Given the description of an element on the screen output the (x, y) to click on. 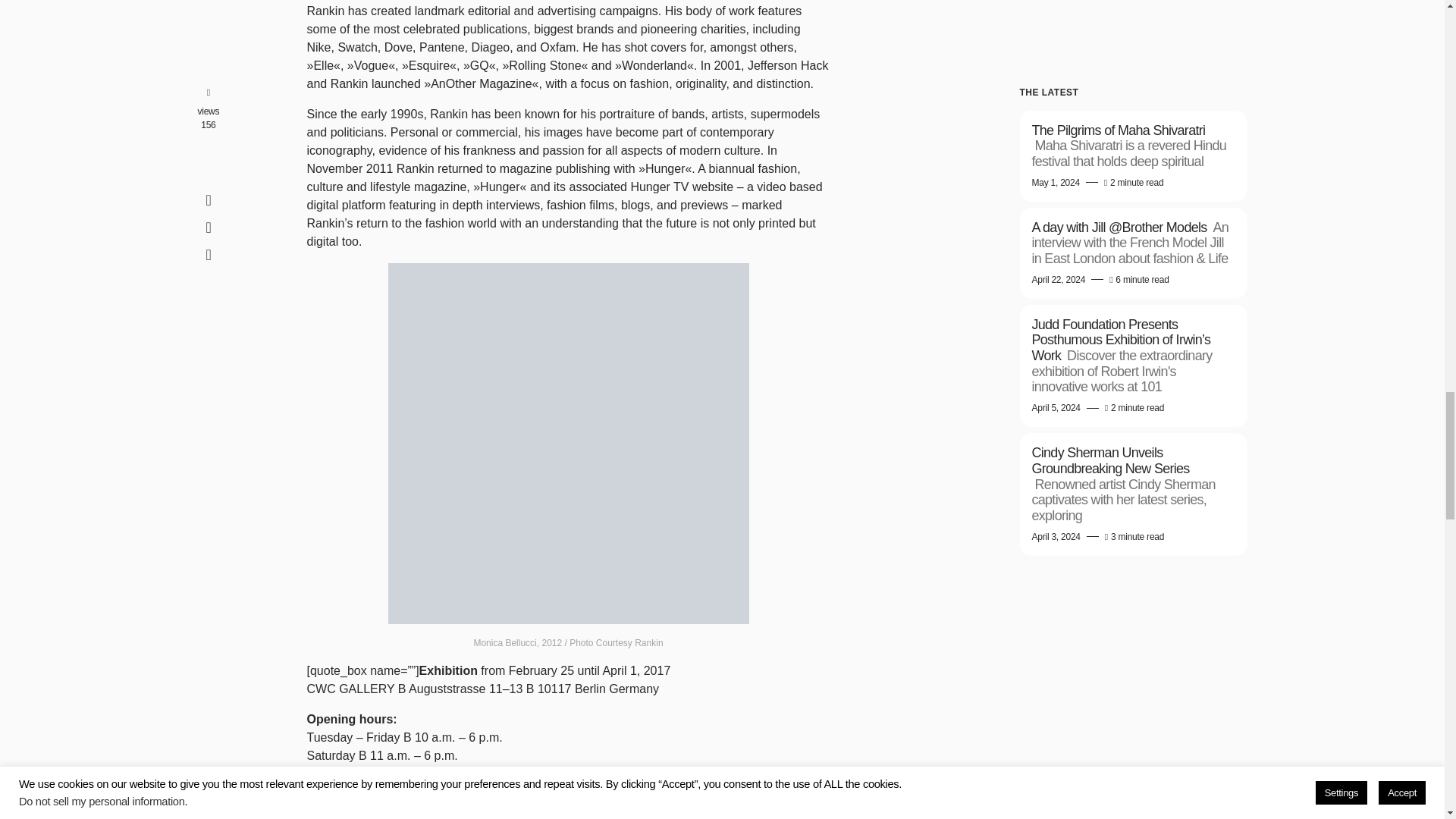
Page 2 (567, 125)
